Given the description of an element on the screen output the (x, y) to click on. 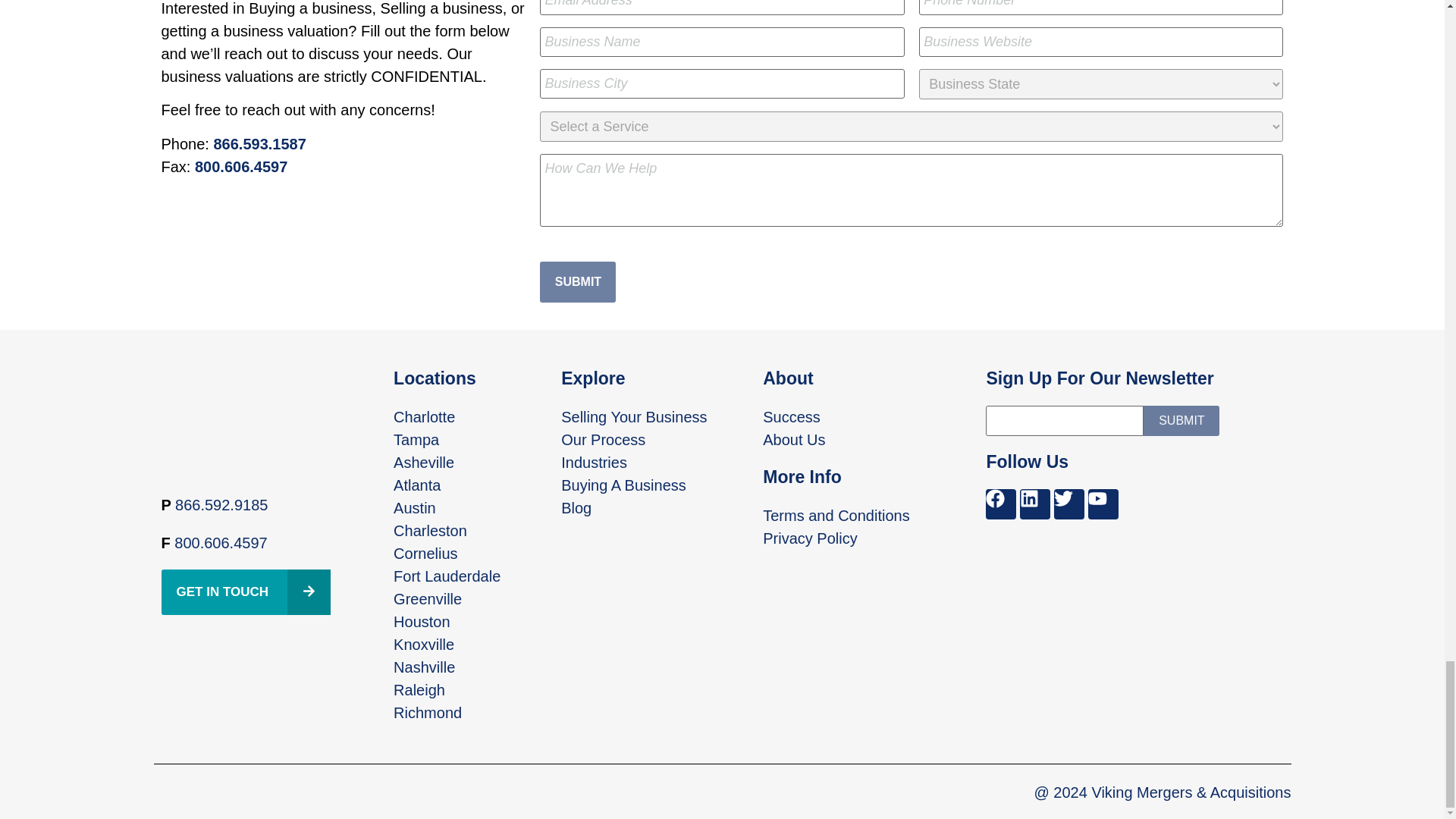
Phone number (220, 542)
Phone number (220, 504)
Submit (577, 281)
Submit (1181, 420)
